Given the description of an element on the screen output the (x, y) to click on. 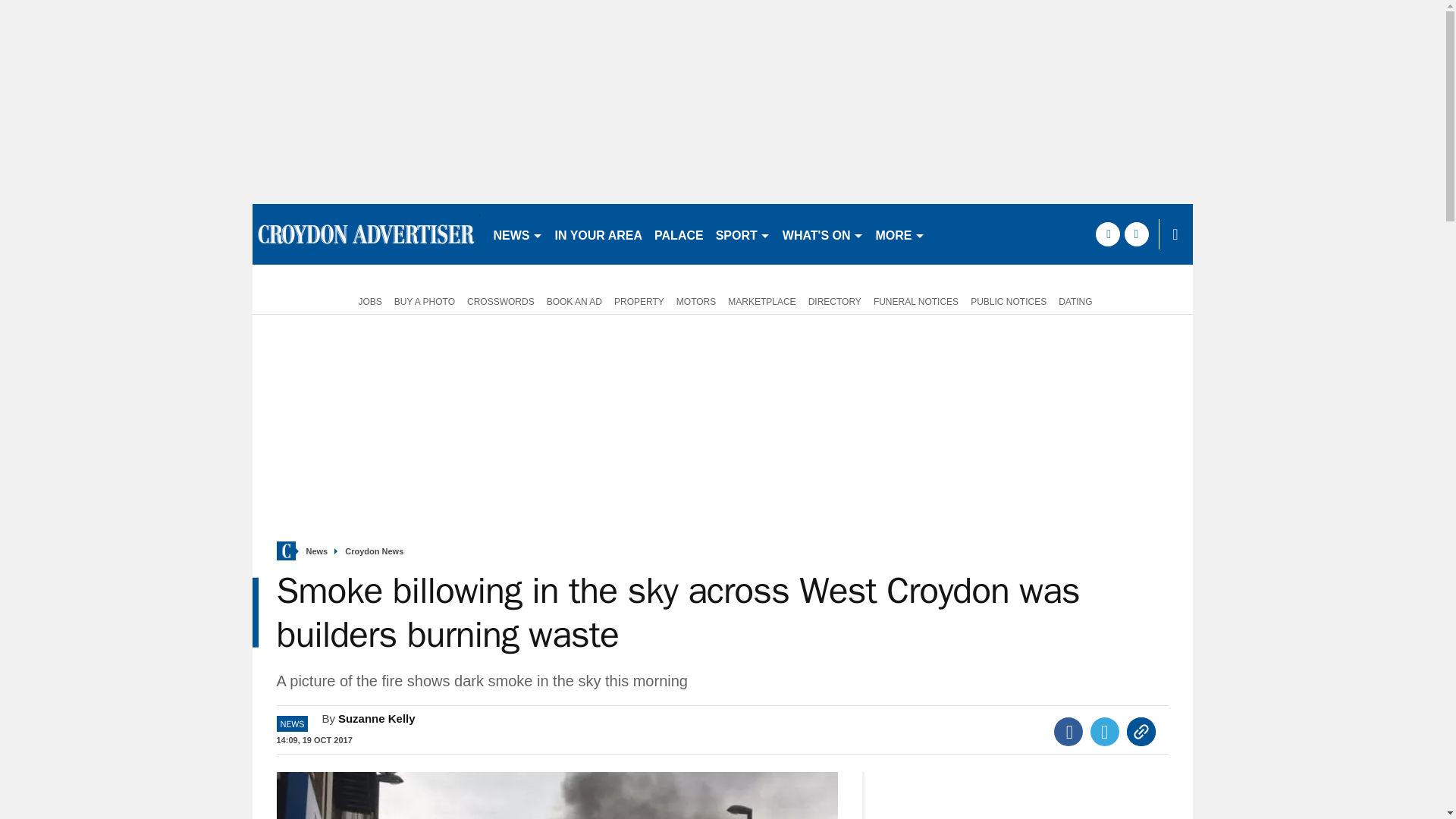
twitter (1136, 233)
MORE (900, 233)
facebook (1106, 233)
croydonadvertiser (365, 233)
CROSSWORDS (500, 300)
NEWS (517, 233)
BUY A PHOTO (424, 300)
WHAT'S ON (822, 233)
SPORT (743, 233)
BOOK AN AD (574, 300)
